Given the description of an element on the screen output the (x, y) to click on. 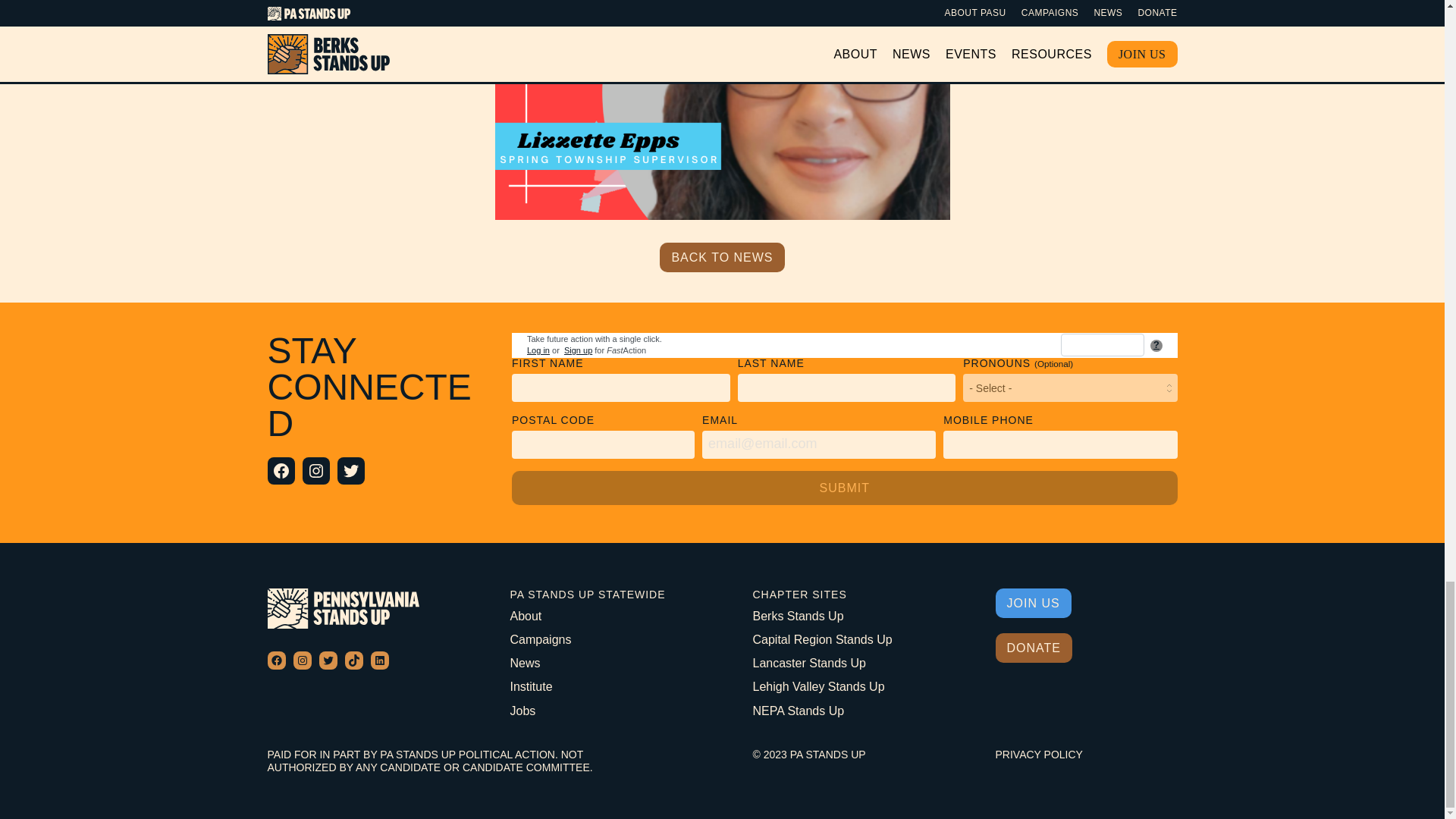
Facebook (280, 470)
BACK TO NEWS (721, 256)
? (1155, 345)
Submit (844, 487)
Sign up (578, 349)
Pronouns (1069, 387)
Log in (538, 349)
Twitter (350, 470)
Instagram (315, 470)
Submit (844, 487)
